Given the description of an element on the screen output the (x, y) to click on. 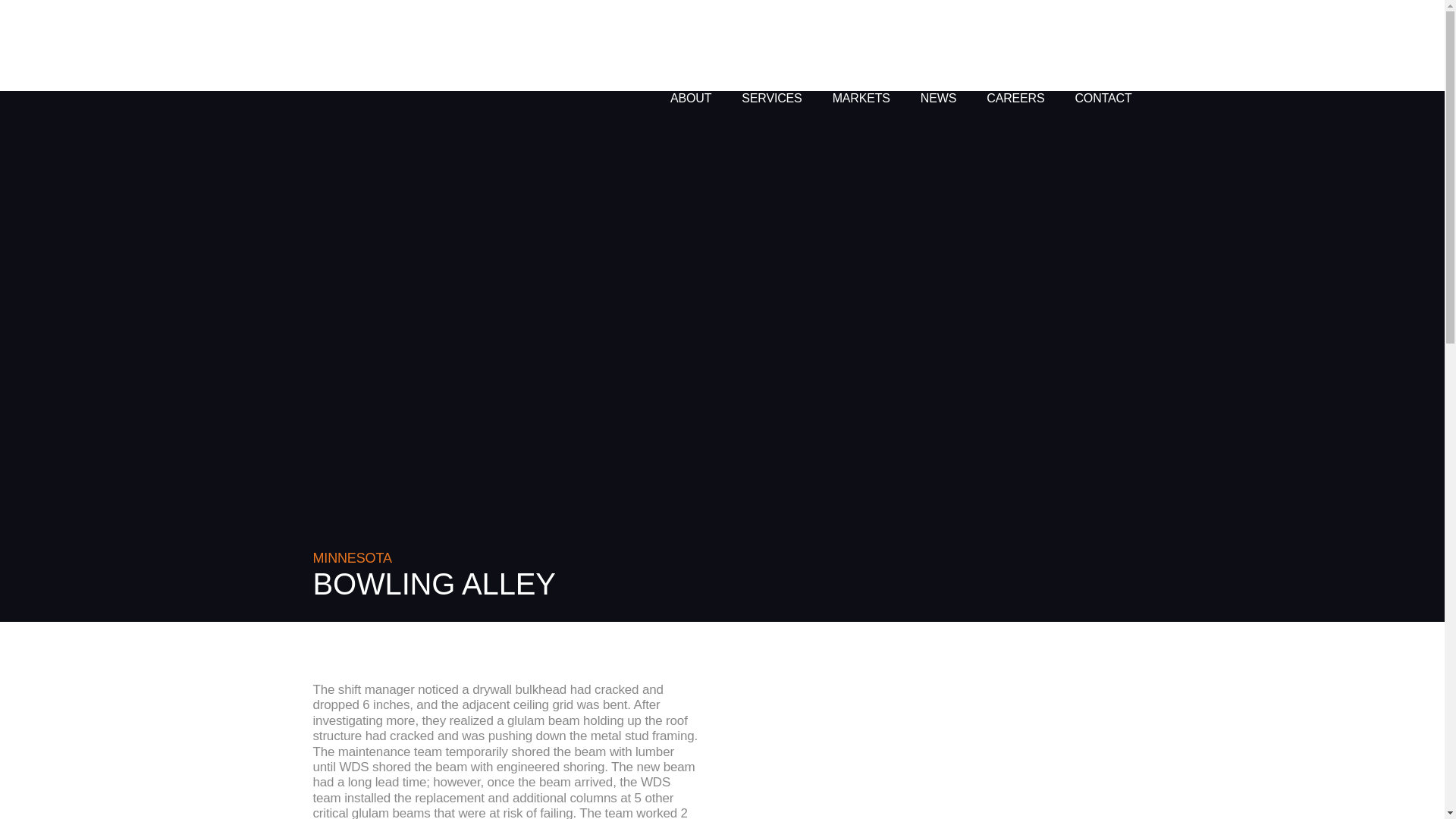
NEWS (938, 90)
MARKETS (860, 79)
CONTACT (1102, 94)
ABOUT (690, 76)
SERVICES (771, 78)
CAREERS (1015, 91)
